Given the description of an element on the screen output the (x, y) to click on. 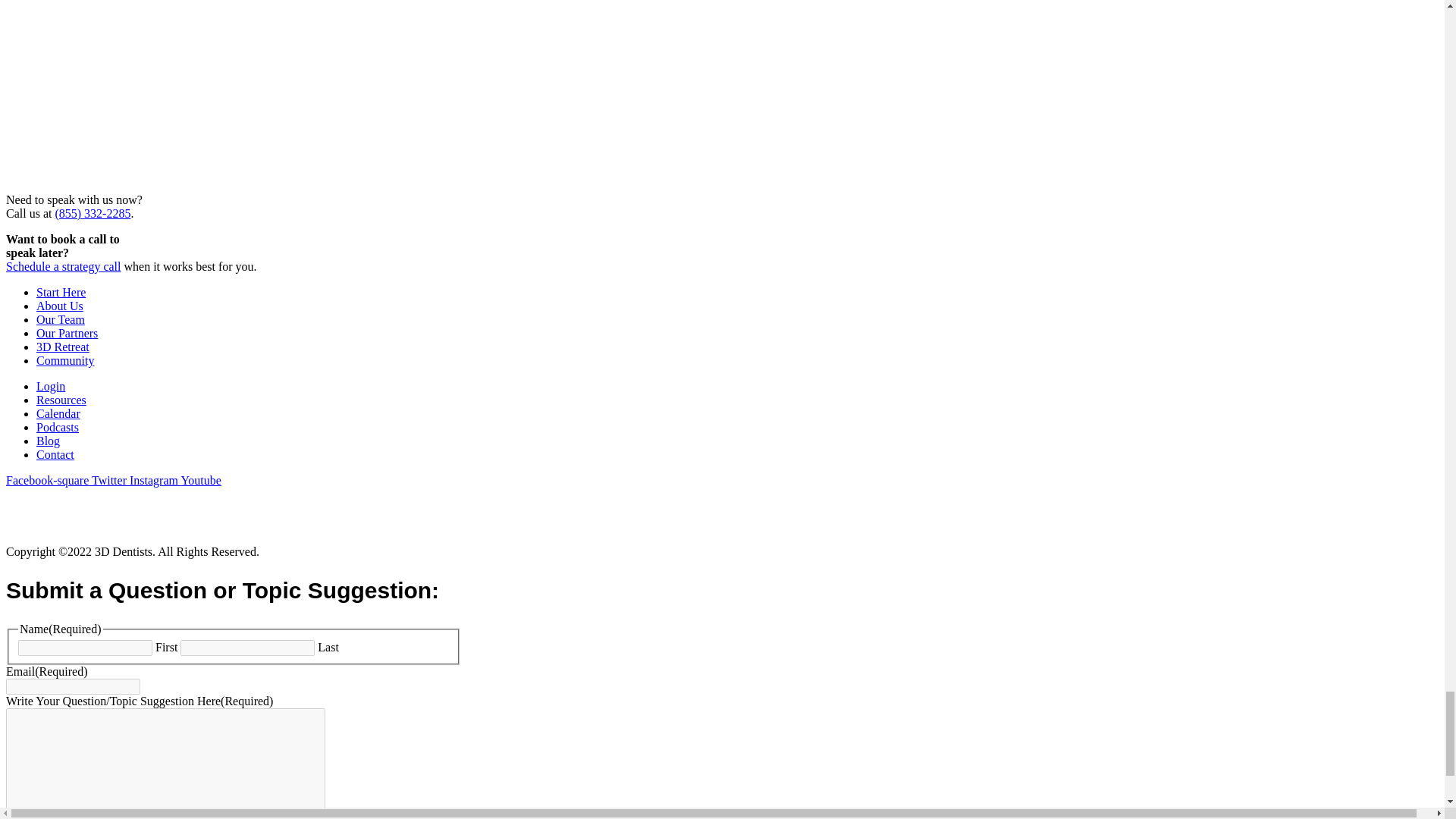
Schedule a strategy call (62, 266)
Our Team (60, 318)
Start Here (60, 291)
About Us (59, 305)
